Given the description of an element on the screen output the (x, y) to click on. 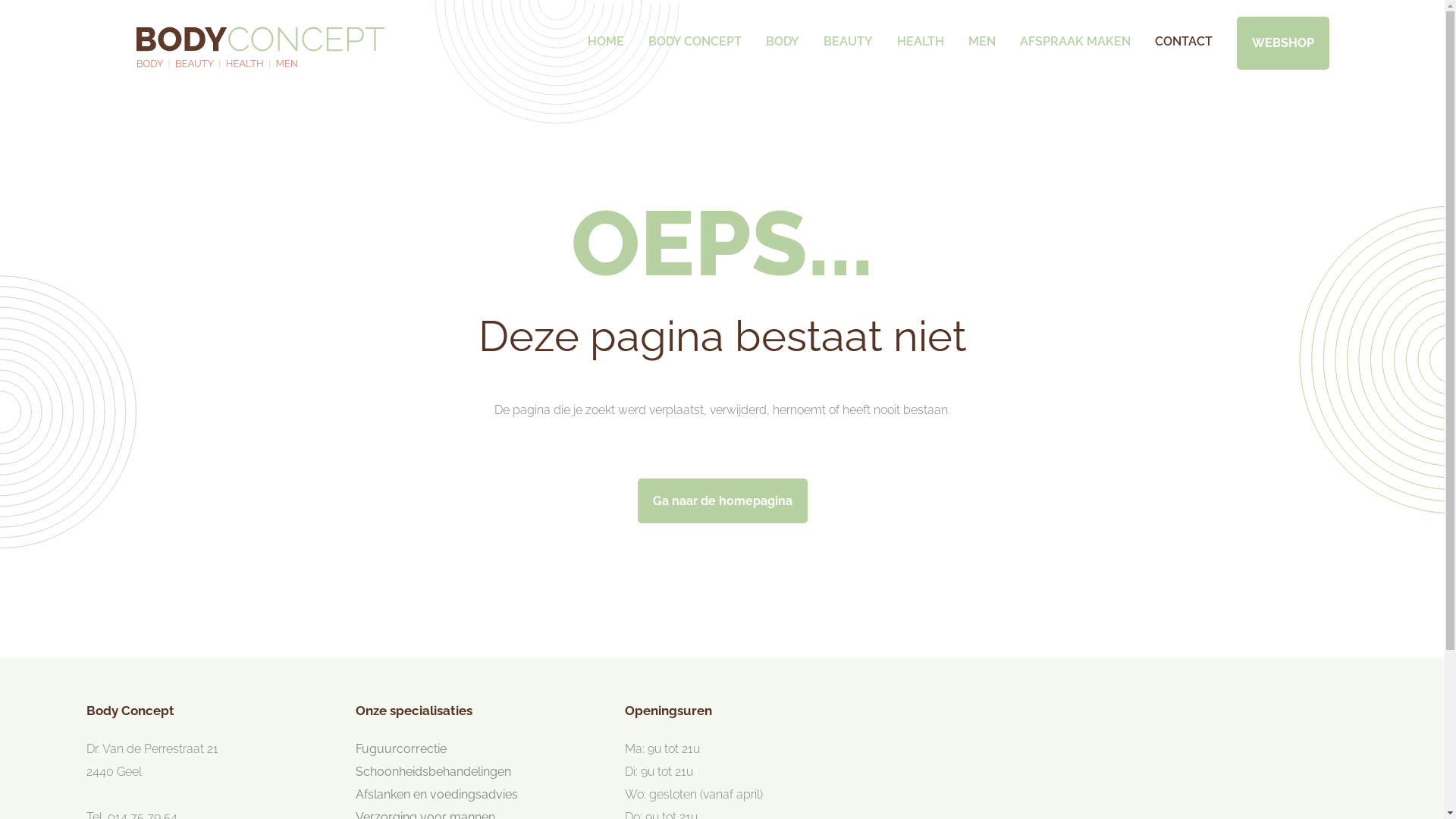
HEALTH Element type: text (919, 32)
MEN Element type: text (981, 32)
Afslanken en voedingsadvies Element type: text (436, 794)
BODY Element type: text (782, 32)
Ga naar de homepagina Element type: text (721, 500)
WEBSHOP Element type: text (1282, 42)
BODY CONCEPT Element type: text (694, 32)
Schoonheidsbehandelingen Element type: text (433, 771)
HOME Element type: text (604, 32)
Fuguurcorrectie Element type: text (400, 748)
CONTACT Element type: text (1182, 32)
AFSPRAAK MAKEN Element type: text (1074, 32)
BEAUTY Element type: text (848, 32)
